Given the description of an element on the screen output the (x, y) to click on. 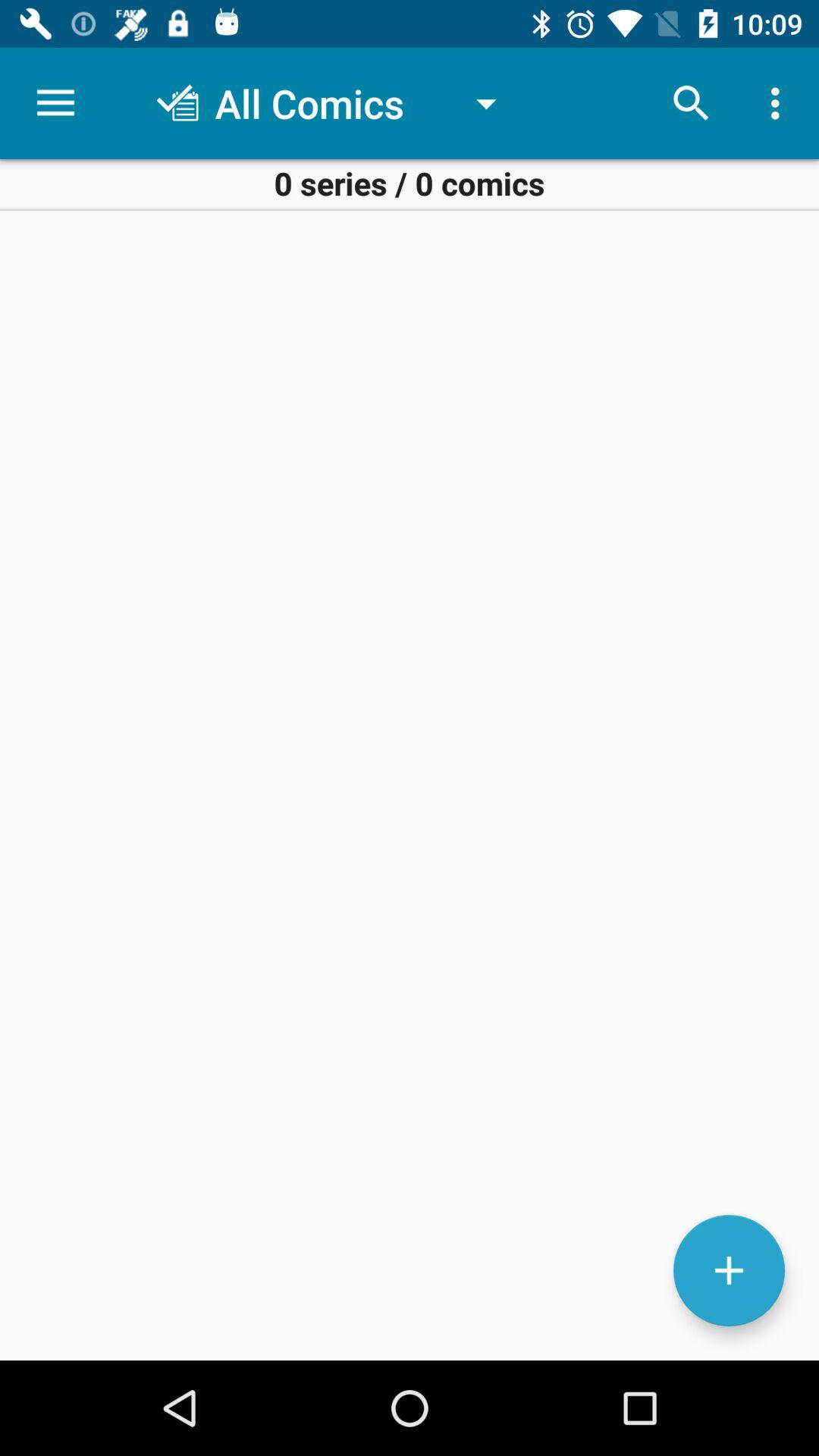
upload comic (728, 1270)
